Given the description of an element on the screen output the (x, y) to click on. 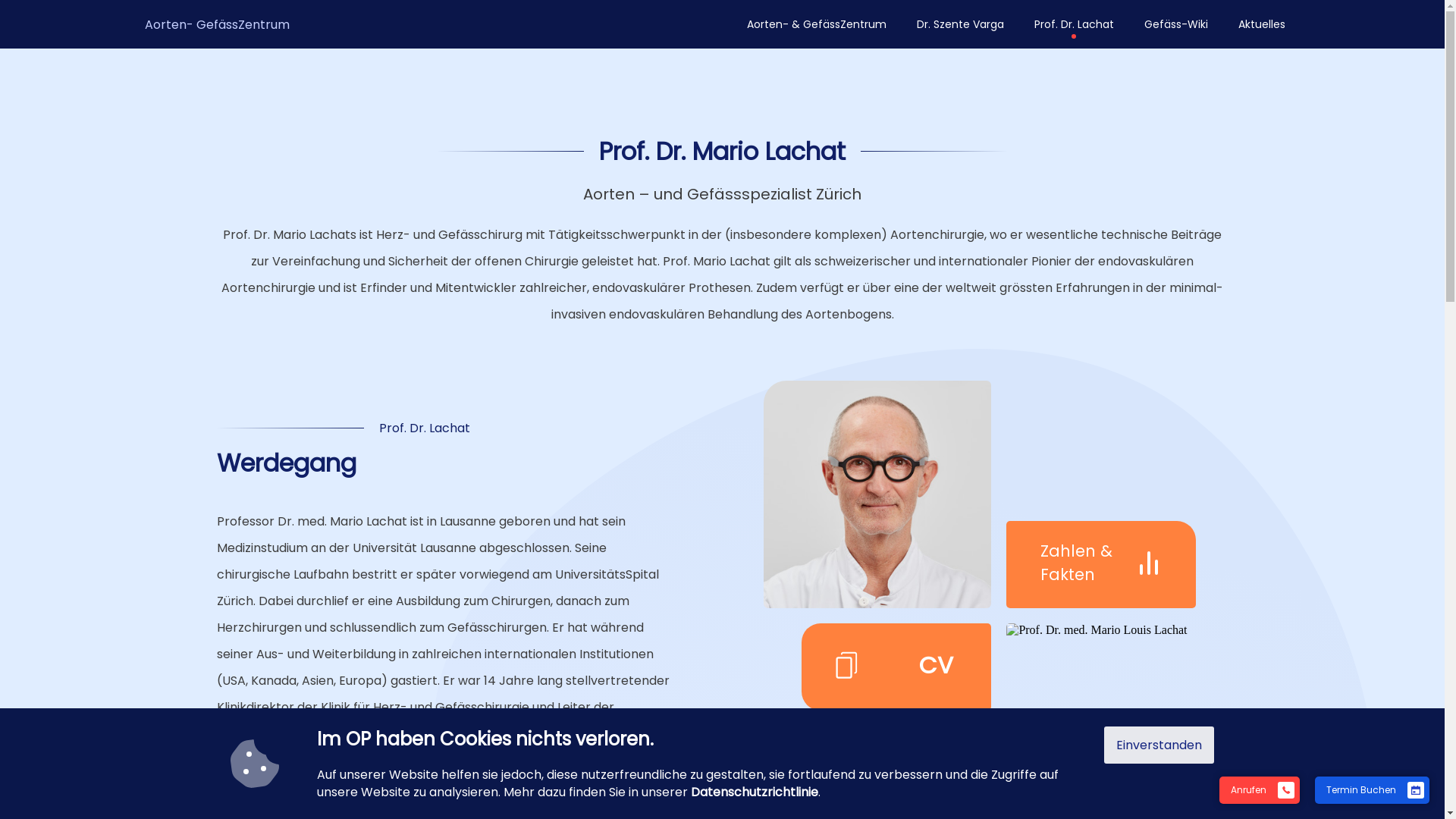
Termin Buchen Element type: text (1364, 788)
Aktuelles Element type: text (1260, 23)
Dr. Szente Varga Element type: text (959, 23)
Datenschutzrichtlinie Element type: text (754, 791)
Termin Buchen Element type: text (1371, 789)
Prof. Dr. Lachat Element type: text (1073, 23)
Anrufen Element type: text (1259, 789)
